Given the description of an element on the screen output the (x, y) to click on. 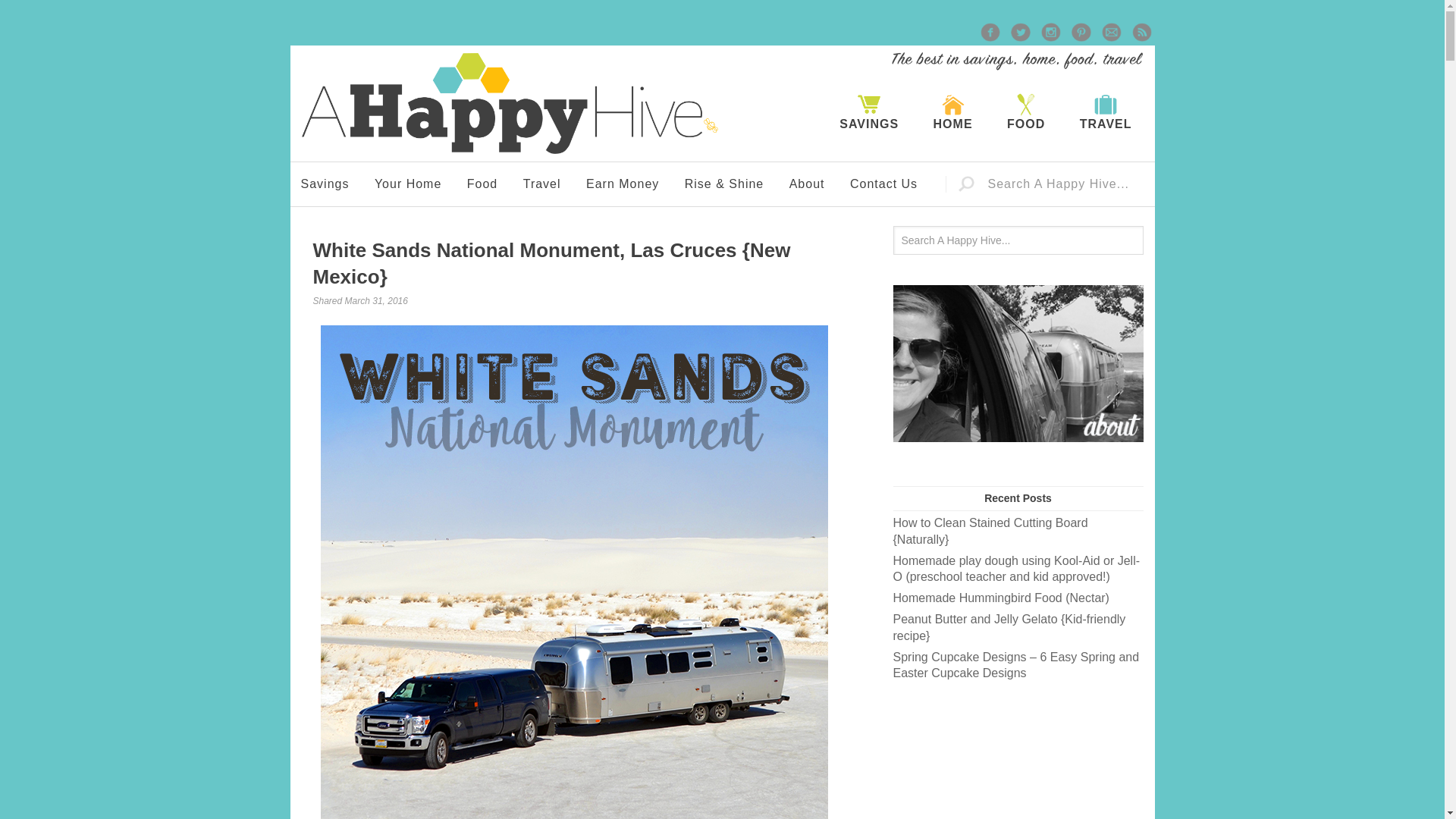
Savings (324, 184)
Food (482, 184)
A HAPPY HIVE (510, 103)
HOME (953, 112)
Earn Money (622, 184)
TRAVEL (1105, 112)
SAVINGS (869, 112)
Contact Us (884, 184)
Your Home (407, 184)
Travel (542, 184)
FOOD (1025, 112)
About (806, 184)
